Given the description of an element on the screen output the (x, y) to click on. 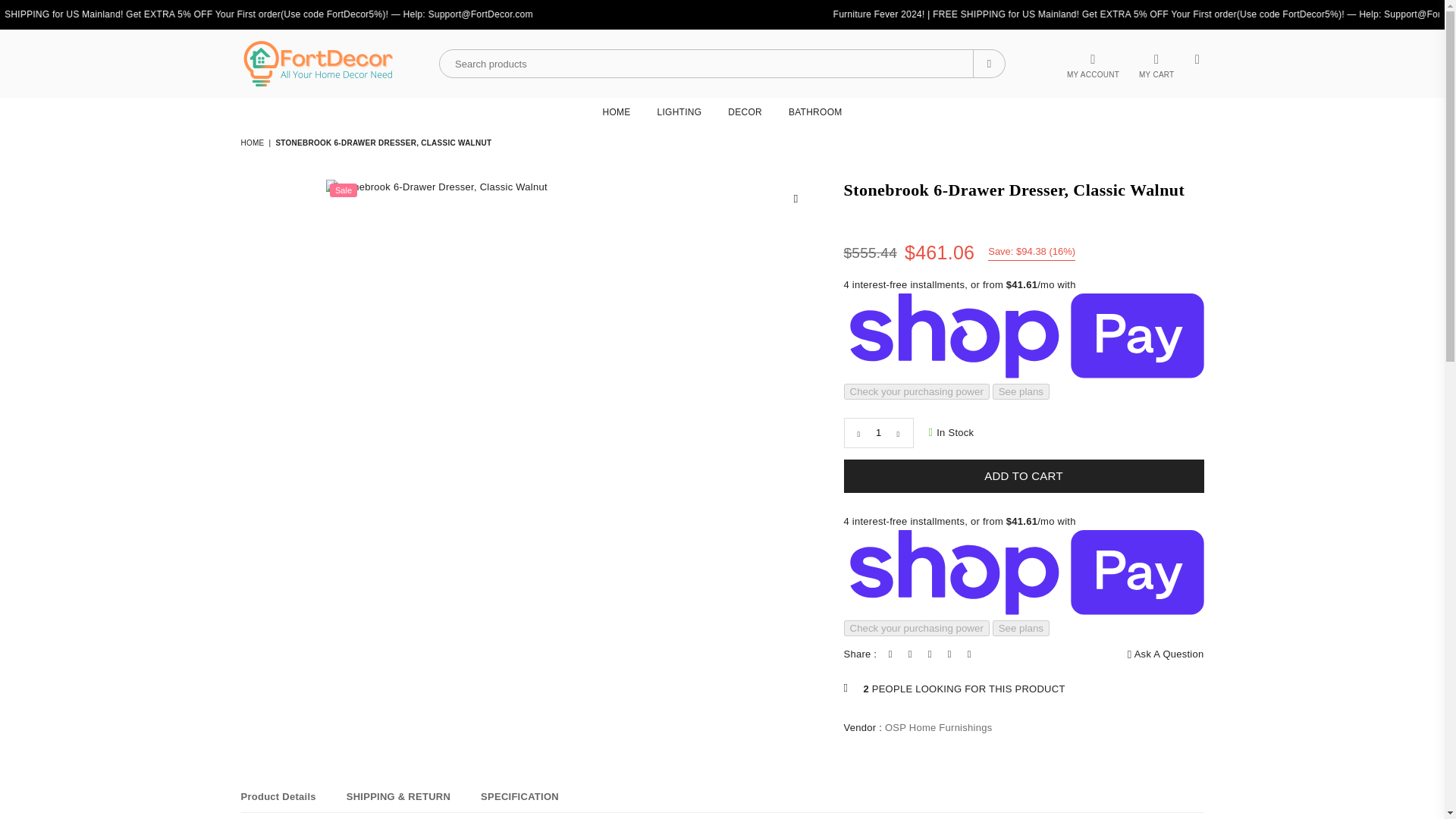
Back to the home page (253, 142)
MY CART (1156, 63)
Tweet on Twitter (909, 654)
Pin on Pinterest (929, 654)
Share by Email (968, 654)
Share on Linkedin (949, 654)
FORTDECOR.COM (324, 63)
Logout (1093, 63)
OSP Home Furnishings (938, 727)
Share on Facebook (889, 654)
